Given the description of an element on the screen output the (x, y) to click on. 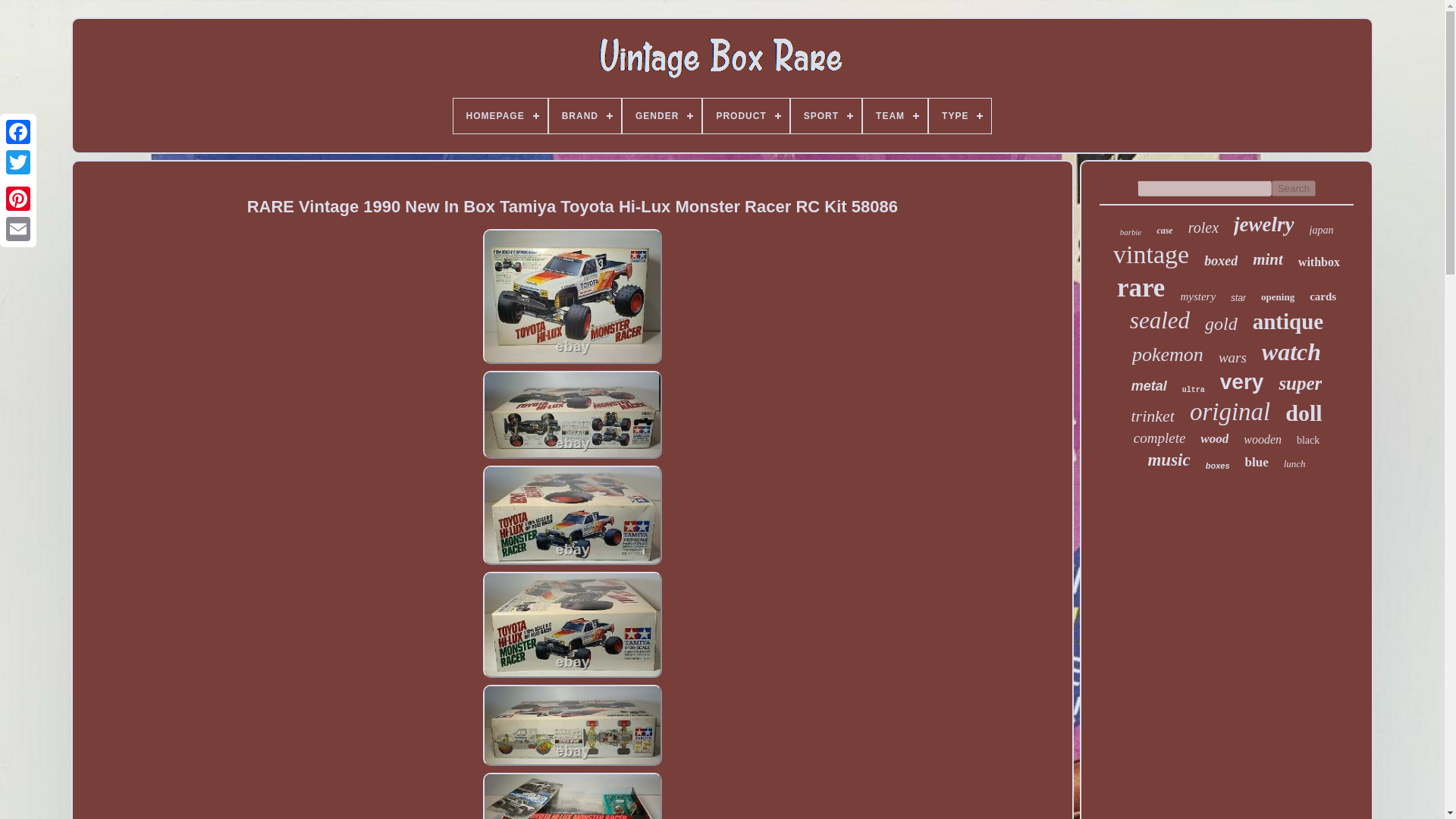
Search (1293, 188)
BRAND (584, 115)
GENDER (662, 115)
Facebook (17, 132)
